Given the description of an element on the screen output the (x, y) to click on. 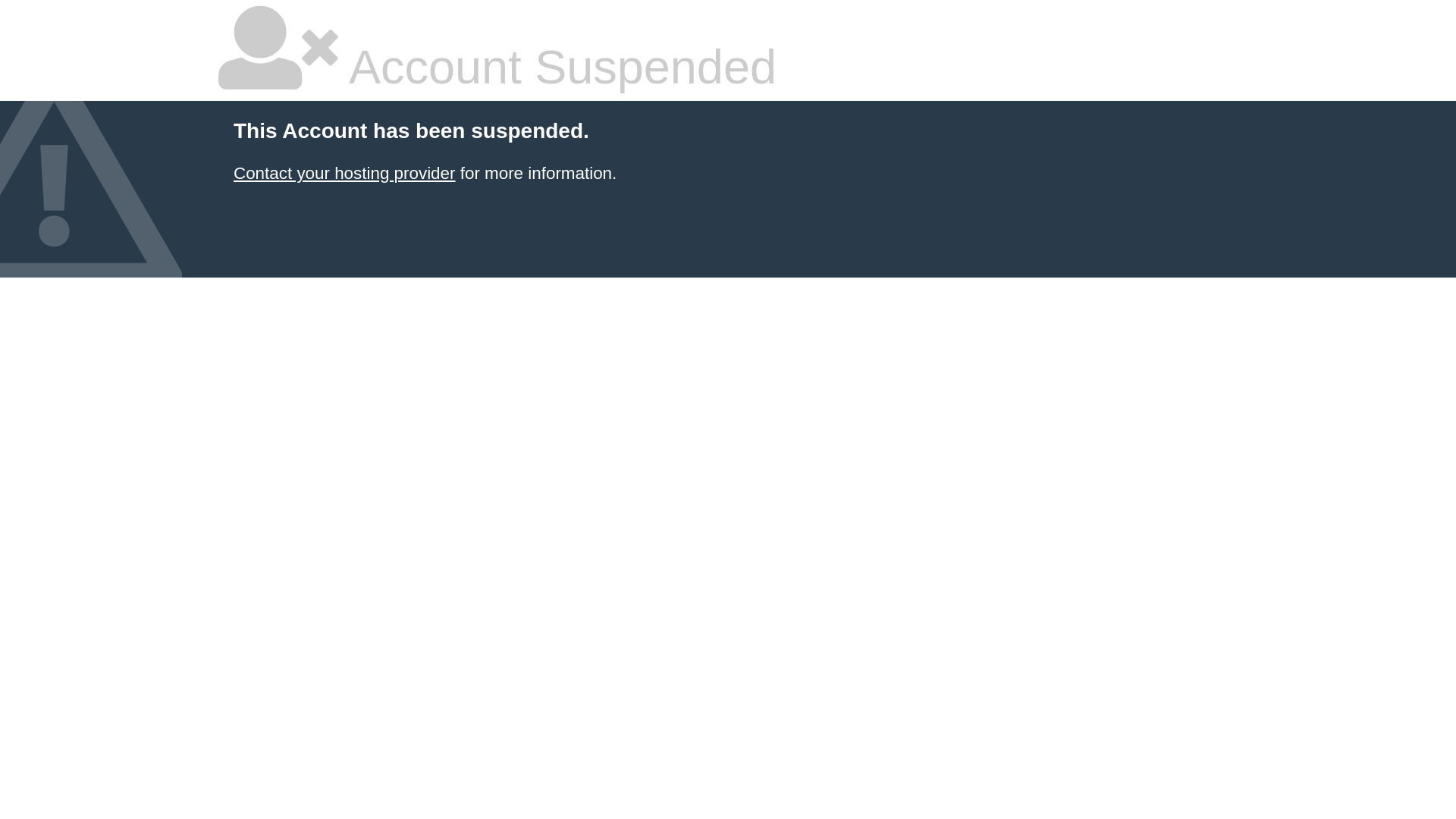
Contact your hosting provider Element type: text (344, 172)
